Given the description of an element on the screen output the (x, y) to click on. 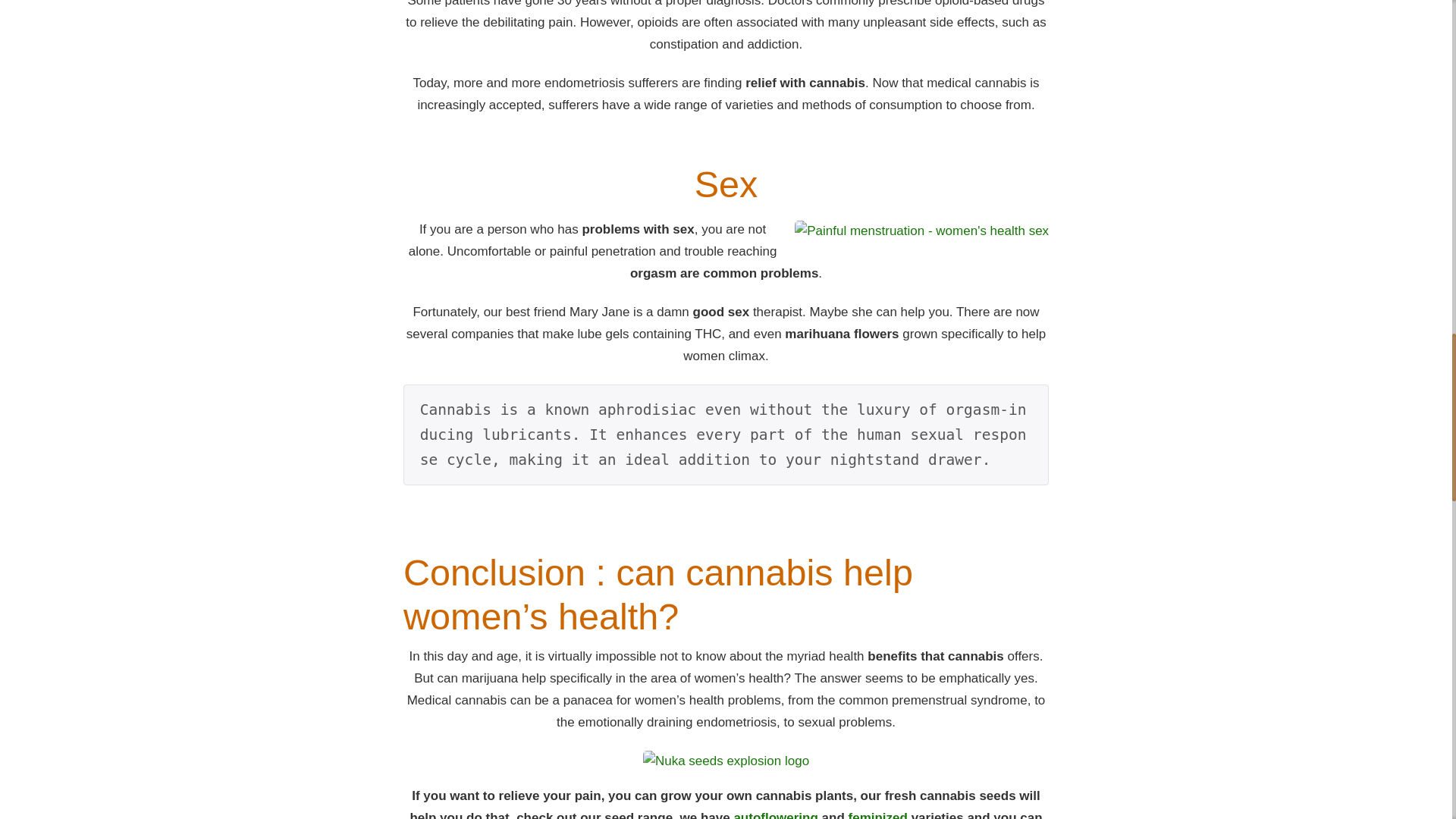
autoflowering (774, 814)
feminized (875, 814)
